Given the description of an element on the screen output the (x, y) to click on. 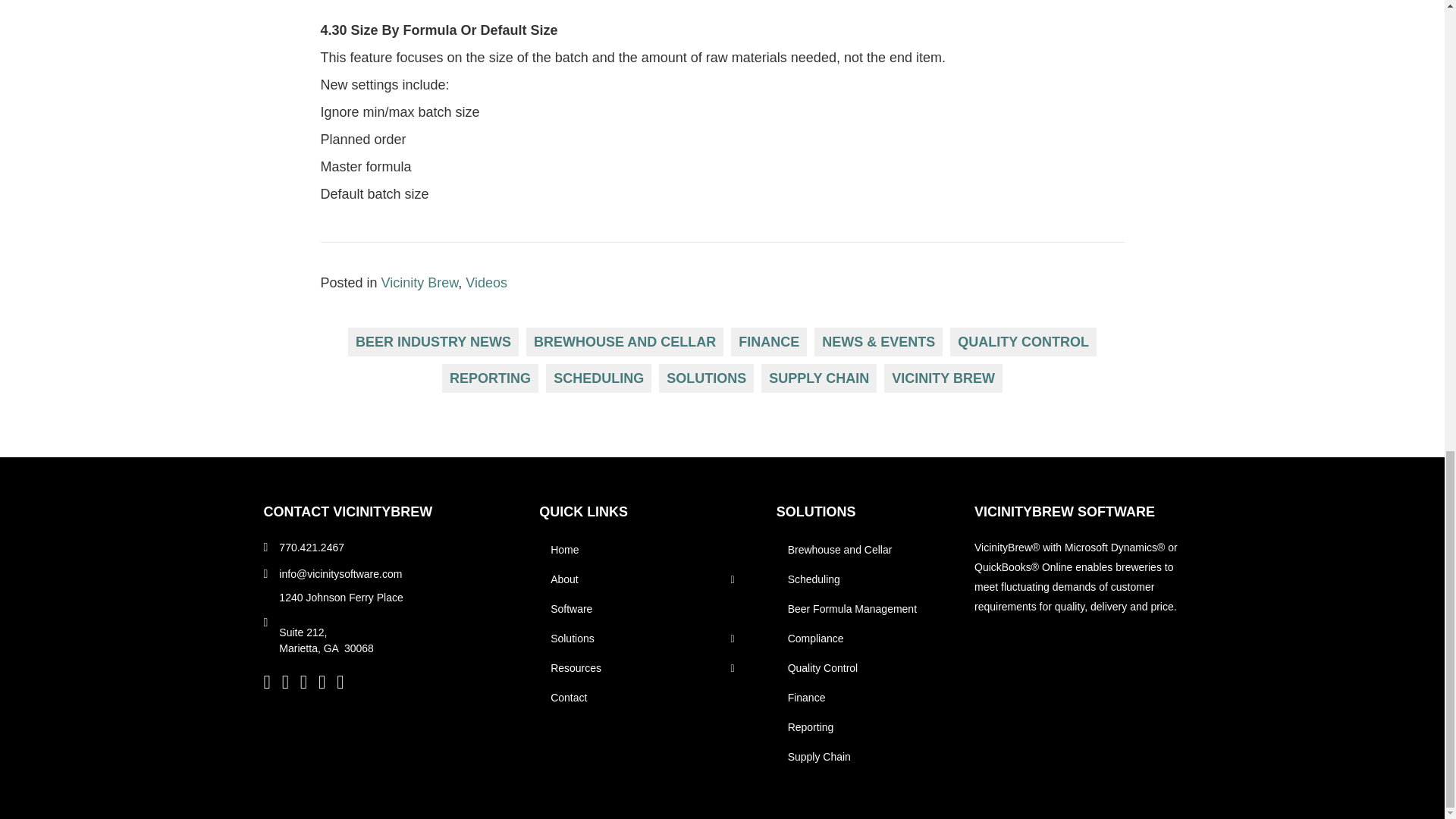
Solutions (816, 511)
